Given the description of an element on the screen output the (x, y) to click on. 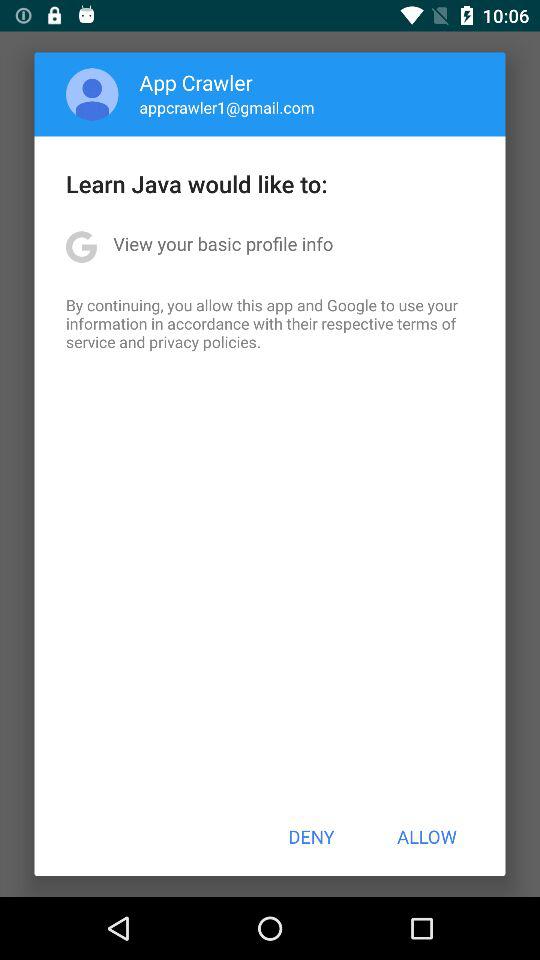
launch icon above the appcrawler1@gmail.com app (195, 82)
